Given the description of an element on the screen output the (x, y) to click on. 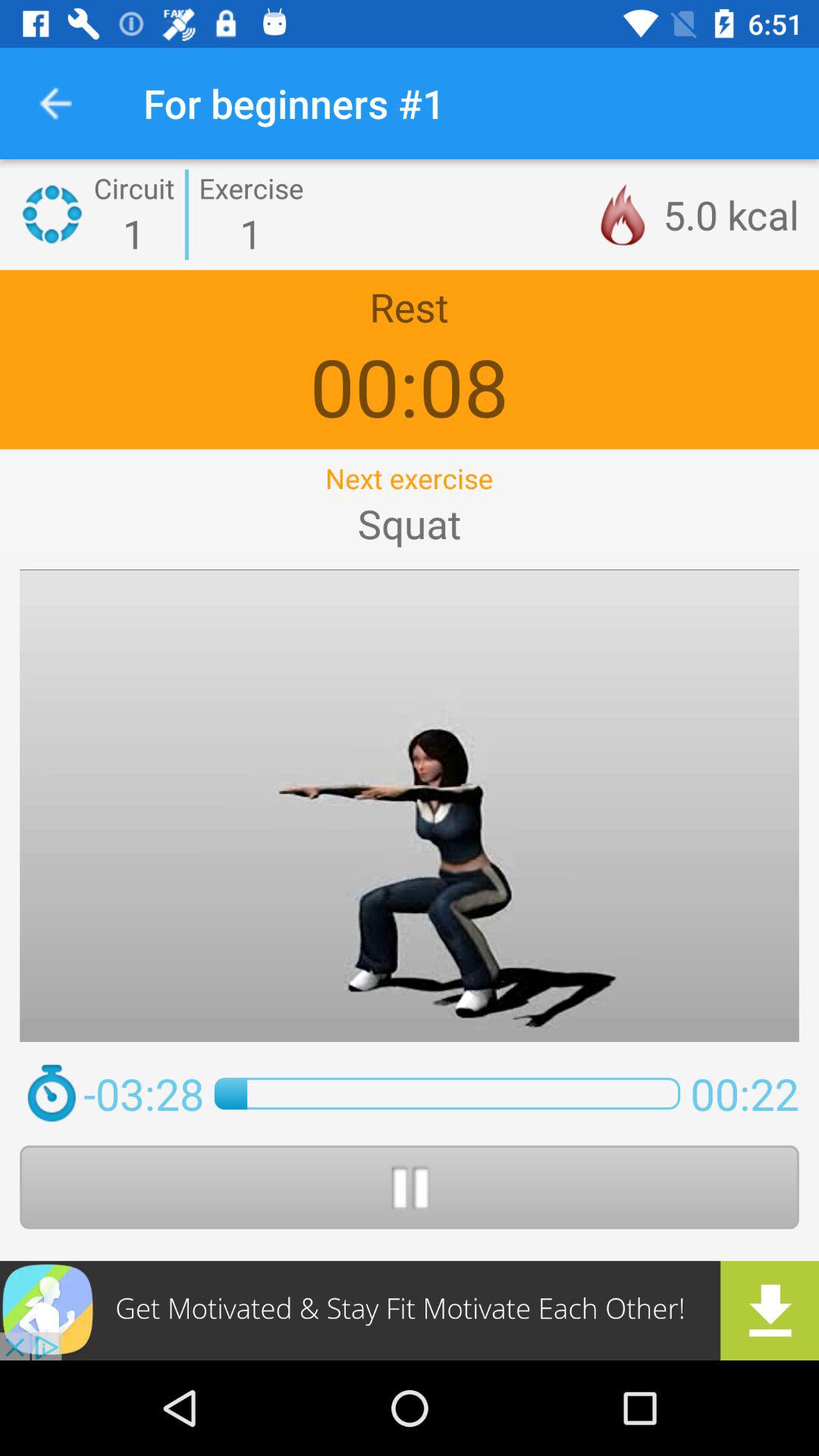
pause opion (409, 1187)
